Given the description of an element on the screen output the (x, y) to click on. 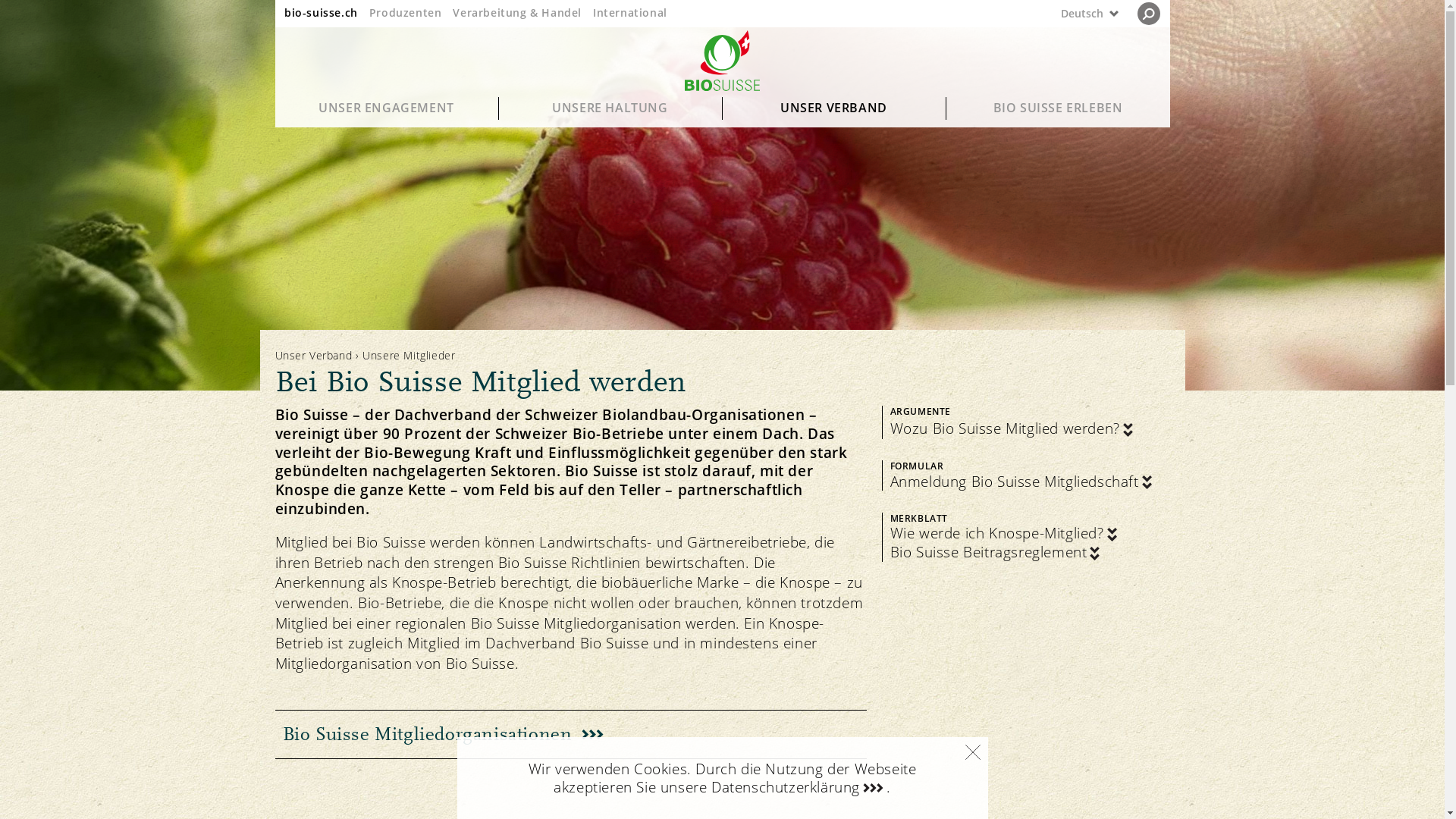
Produzenten Element type: text (405, 12)
UNSER ENGAGEMENT Element type: text (386, 108)
Wozu Bio Suisse Mitglied werden? Element type: text (1012, 428)
Deutsch Element type: text (1053, 13)
Anmeldung Bio Suisse Mitgliedschaft Element type: text (1022, 481)
UNSERE HALTUNG Element type: text (610, 108)
International Element type: text (630, 12)
UNSER VERBAND Element type: text (833, 108)
BIO SUISSE ERLEBEN Element type: text (1058, 108)
Wie werde ich Knospe-Mitglied? Element type: text (1005, 533)
bio-suisse.ch Element type: text (320, 12)
Bio Suisse Beitragsreglement Element type: text (996, 551)
Verarbeitung & Handel Element type: text (516, 12)
Bio Suisse Mitgliedorganisationen Element type: text (570, 734)
Unser Verband Element type: text (312, 355)
